Given the description of an element on the screen output the (x, y) to click on. 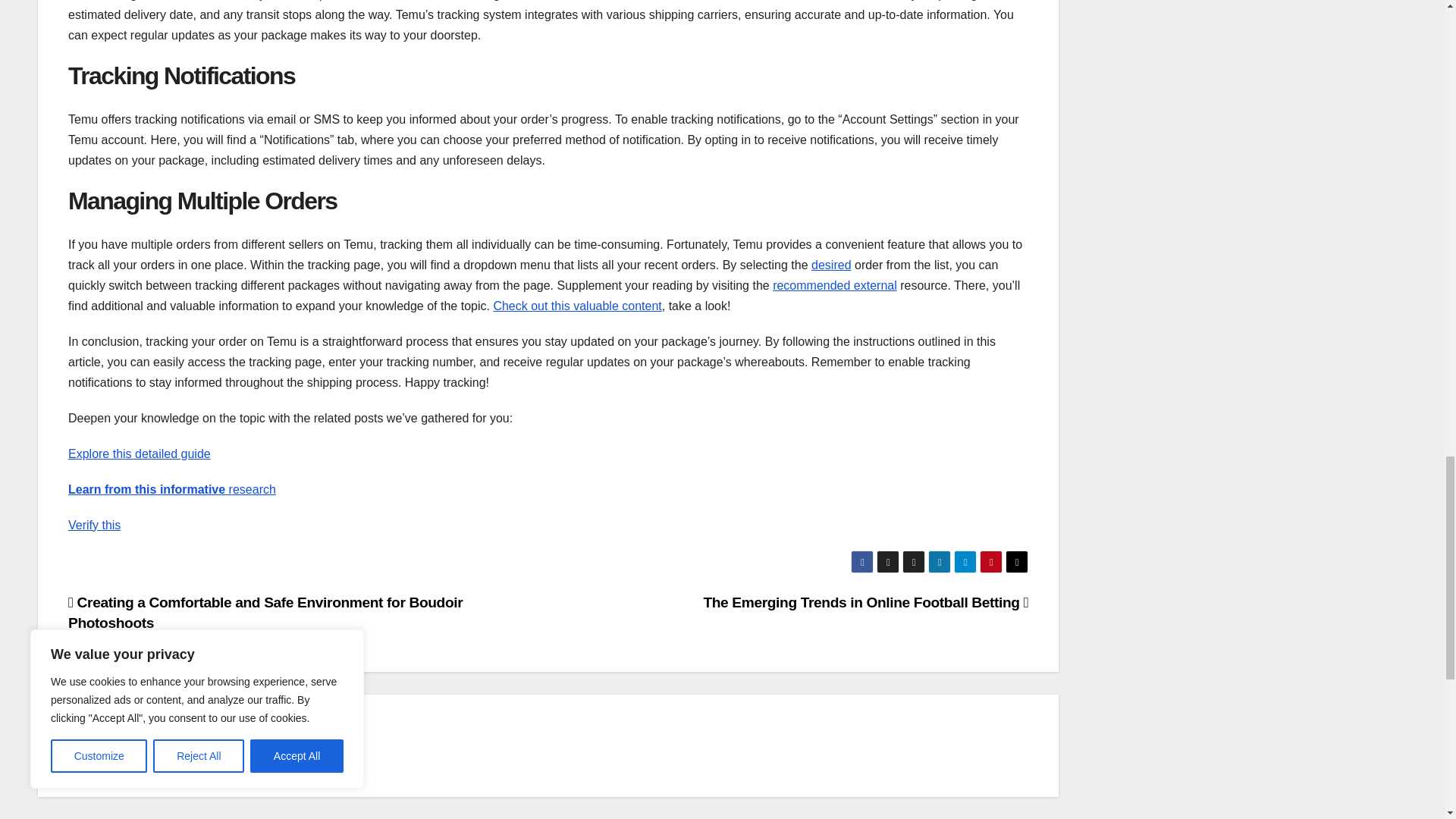
Explore this detailed guide (139, 453)
Verify this (94, 524)
Learn from this informative research (172, 489)
desired (830, 264)
recommended external (834, 285)
Check out this valuable content (577, 305)
